Given the description of an element on the screen output the (x, y) to click on. 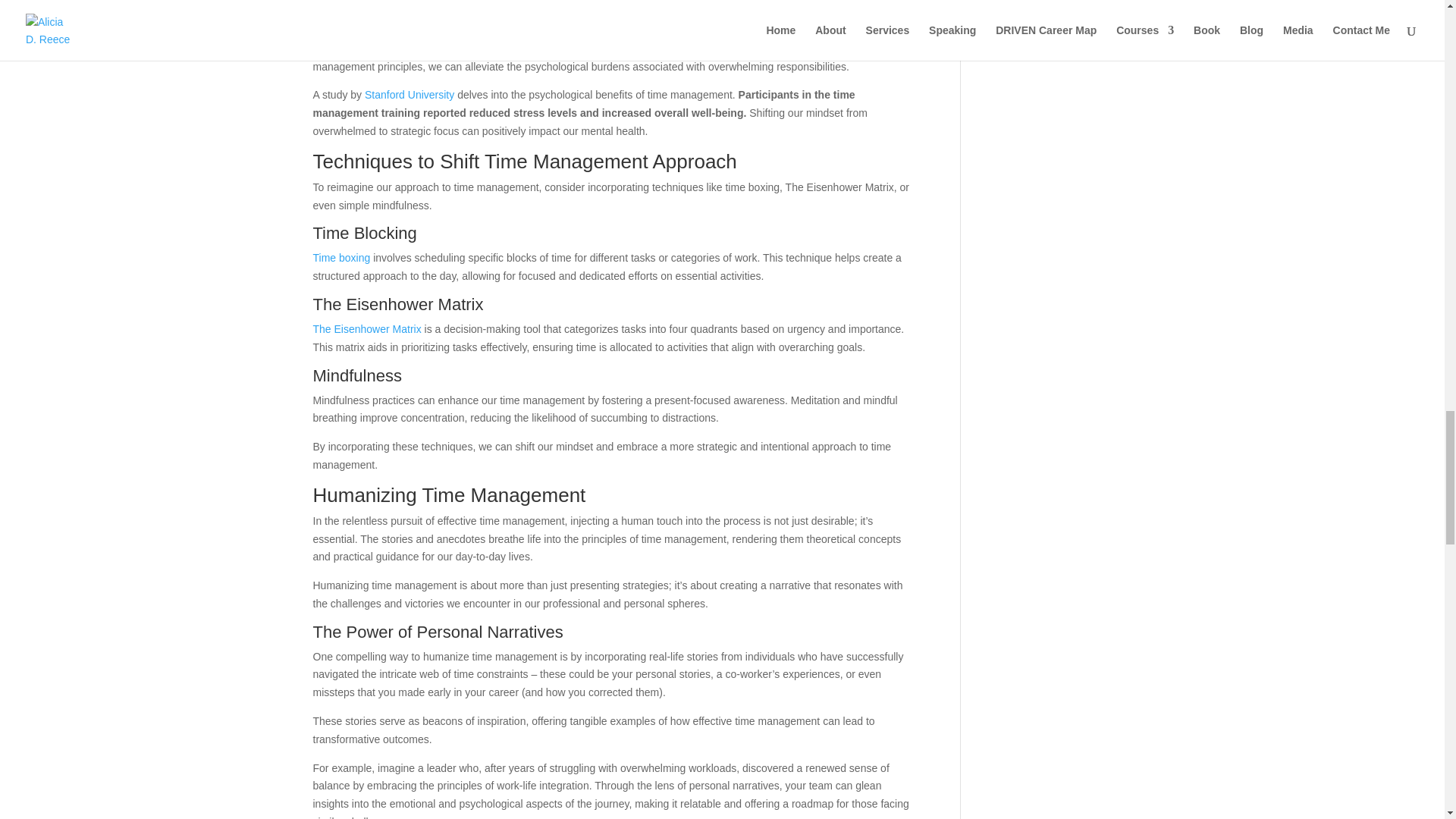
The Eisenhower Matrix (366, 328)
Stanford University (409, 94)
Time boxing (341, 257)
